Given the description of an element on the screen output the (x, y) to click on. 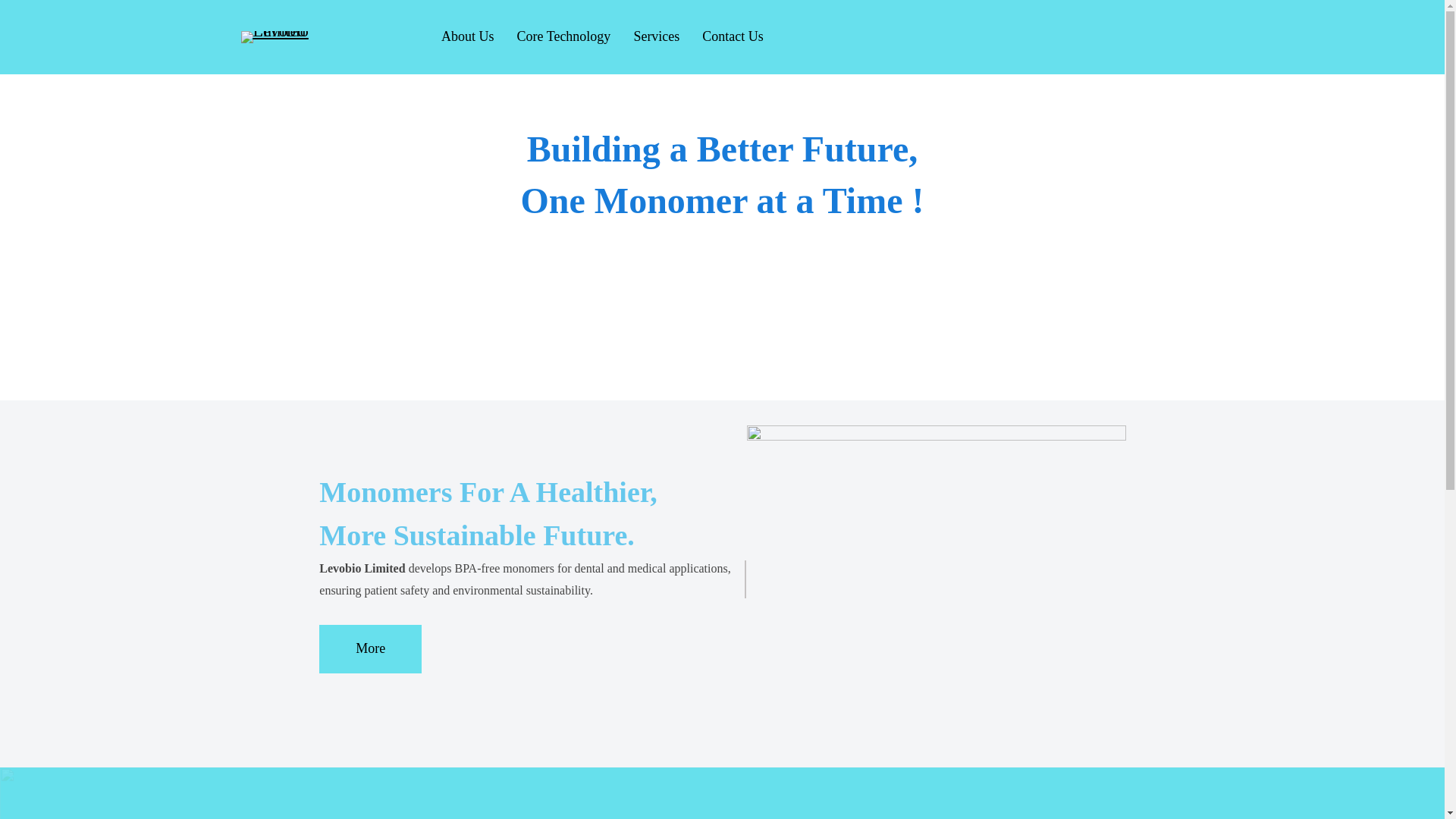
Services (656, 36)
More (370, 648)
About Us (468, 36)
Contact Us (731, 36)
Core Technology (563, 36)
